Given the description of an element on the screen output the (x, y) to click on. 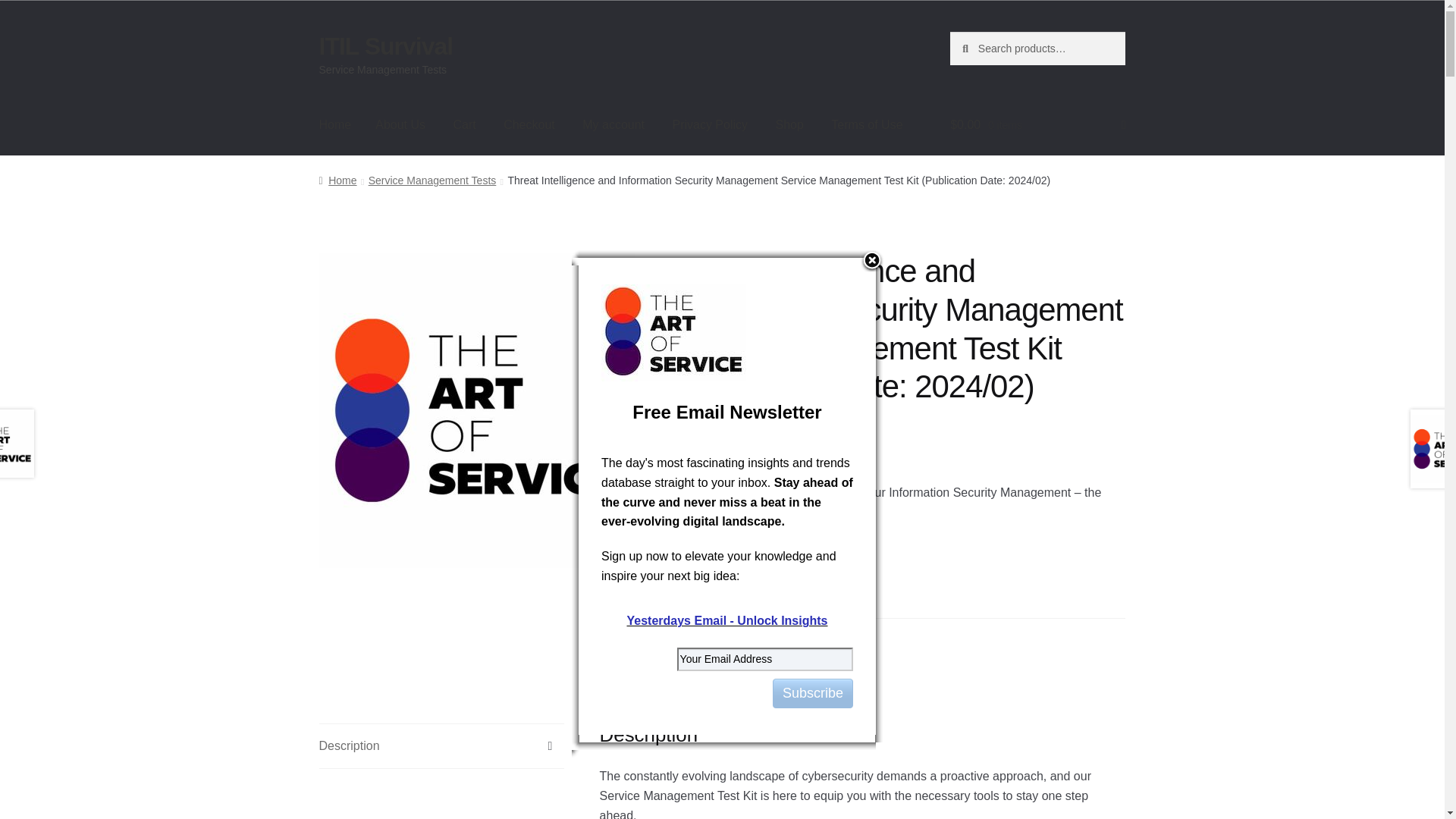
Privacy Policy (709, 124)
Service Management Tests (786, 637)
Service Management Tests (432, 180)
Terms of Use (866, 124)
ITIL Survival (385, 45)
Checkout (529, 124)
About Us (400, 124)
Home (335, 124)
Subscribe (813, 693)
